Given the description of an element on the screen output the (x, y) to click on. 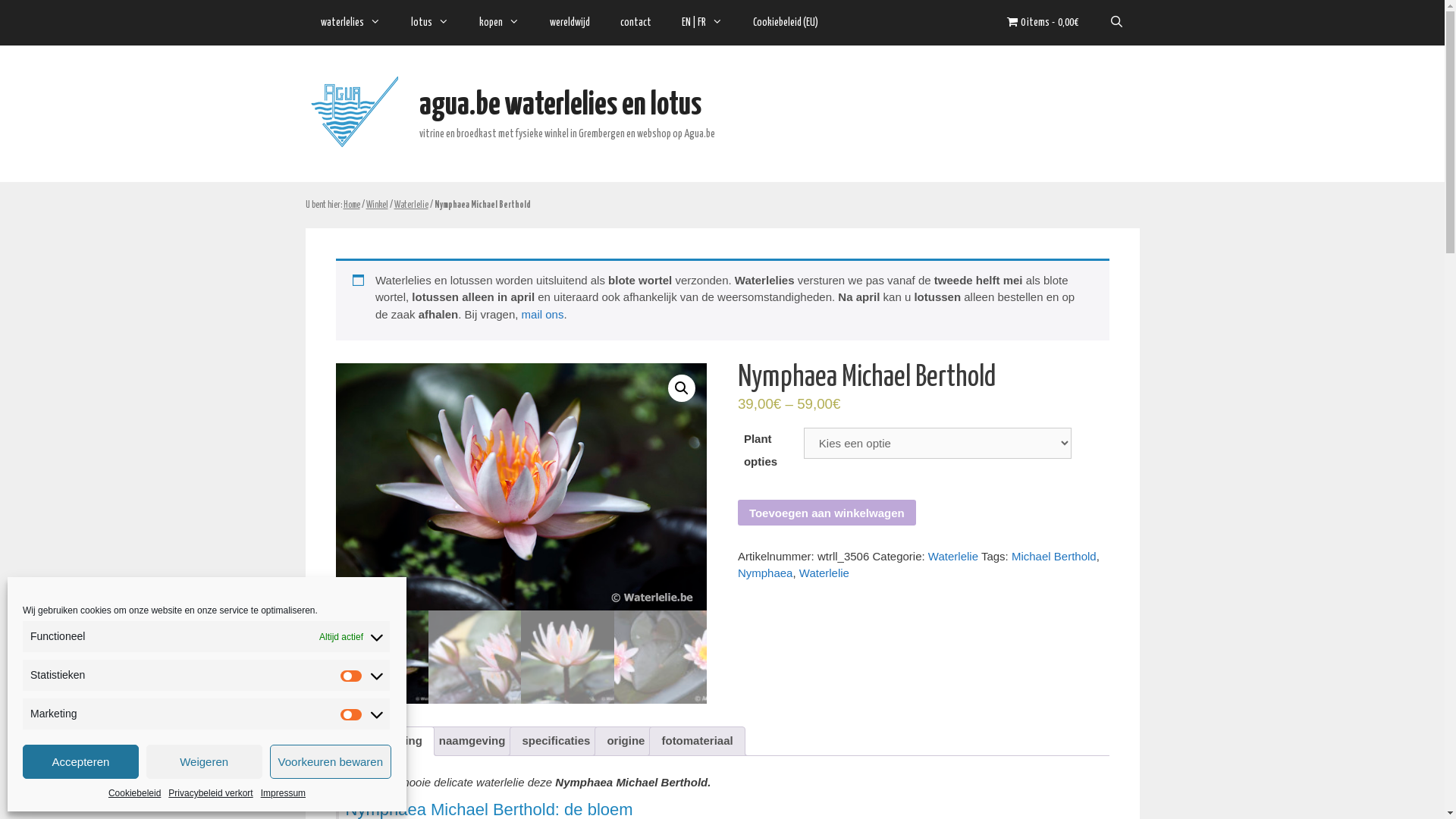
Toevoegen aan winkelwagen Element type: text (826, 512)
Winkel Element type: text (376, 205)
Waterlelie Element type: text (411, 205)
Accepteren Element type: text (80, 761)
Waterlelie Element type: text (953, 555)
Voorkeuren bewaren Element type: text (330, 761)
contact Element type: text (635, 22)
naamgeving Element type: text (472, 741)
Impressum Element type: text (282, 793)
Cookiebeleid (EU) Element type: text (784, 22)
agua.be waterlelies en lotus Element type: text (560, 105)
agua.be waterlelies en lotus Element type: hover (352, 113)
agua.be waterlelies en lotus Element type: hover (352, 113)
Nymphaea Element type: text (765, 572)
15127071438_c7afb01dc8_z Element type: hover (520, 487)
Privacybeleid verkort Element type: text (210, 793)
Cookiebeleid Element type: text (134, 793)
waterlelies Element type: text (349, 22)
Waterlelie Element type: text (824, 572)
fotomateriaal Element type: text (696, 741)
EN | FR Element type: text (701, 22)
Search Element type: text (1116, 22)
Home Element type: text (350, 205)
kopen Element type: text (499, 22)
origine Element type: text (625, 741)
Michael Berthold Element type: text (1053, 555)
specificaties Element type: text (555, 741)
lotus Element type: text (429, 22)
beschrijving Element type: text (387, 741)
mail ons Element type: text (542, 313)
wereldwijd Element type: text (568, 22)
Weigeren Element type: text (204, 761)
